Given the description of an element on the screen output the (x, y) to click on. 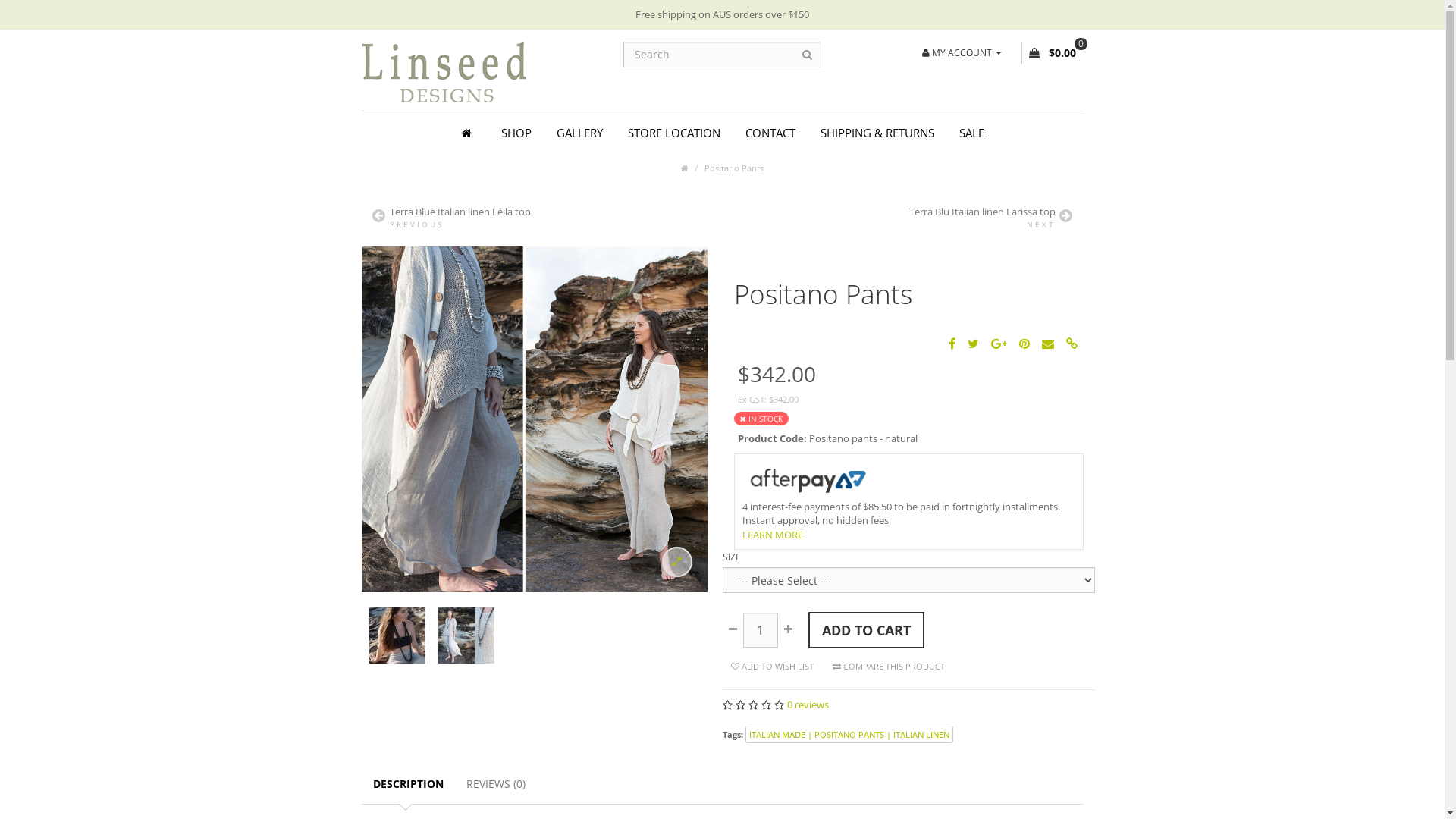
Positano Pants  Element type: hover (533, 417)
MY ACCOUNT Element type: text (961, 52)
Linseed Designs Element type: hover (442, 71)
Positano Pants  Element type: hover (466, 635)
Positano Pants  Element type: hover (397, 635)
ADD TO WISH LIST Element type: text (771, 666)
Positano Pants  Element type: hover (465, 635)
Terra Blue Italian linen Leila top
PREVIOUS Element type: text (540, 216)
0 reviews Element type: text (807, 704)
ITALIAN MADE | POSITANO PANTS | ITALIAN LINEN Element type: text (848, 734)
CONTACT Element type: text (770, 132)
0
$0.00 Element type: text (1051, 52)
COMPARE THIS PRODUCT Element type: text (887, 666)
ADD TO CART Element type: text (866, 629)
SHOP Element type: text (515, 132)
Positano Pants  Element type: hover (533, 419)
STORE LOCATION Element type: text (673, 132)
LEARN MORE Element type: text (771, 534)
GALLERY Element type: text (578, 132)
Home Element type: hover (467, 132)
DESCRIPTION Element type: text (407, 783)
Positano Pants Element type: text (733, 167)
SHIPPING & RETURNS Element type: text (876, 132)
Terra Blu Italian linen Larissa top
NEXT Element type: text (901, 216)
Positano Pants  Element type: hover (396, 635)
REVIEWS (0) Element type: text (495, 783)
SALE Element type: text (971, 132)
